Given the description of an element on the screen output the (x, y) to click on. 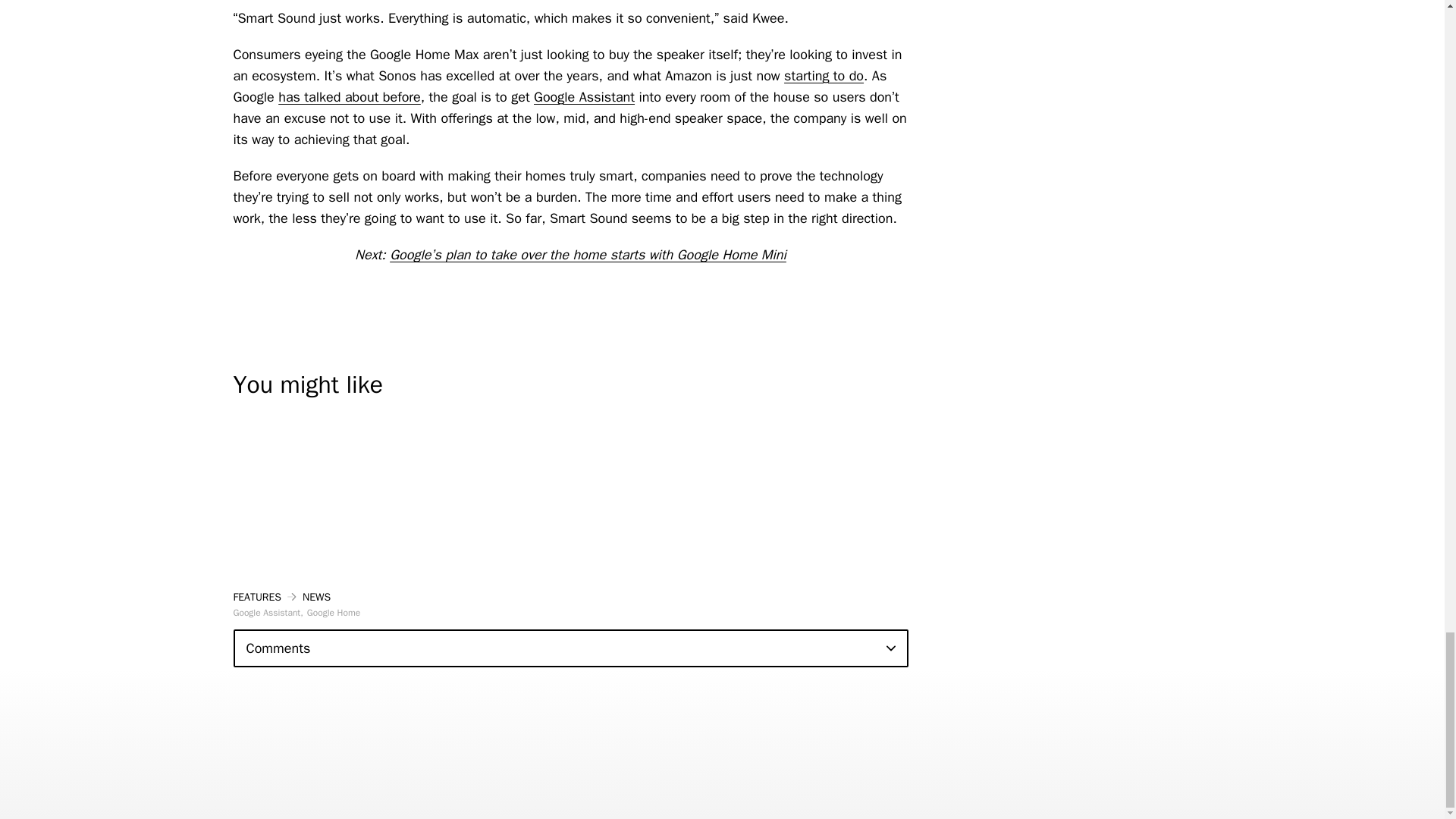
Google Assistant (267, 612)
FEATURES (257, 596)
Google Home (333, 612)
starting to do (823, 75)
has talked about before (349, 96)
Comments (570, 648)
Google Assistant (584, 96)
NEWS (316, 596)
